Given the description of an element on the screen output the (x, y) to click on. 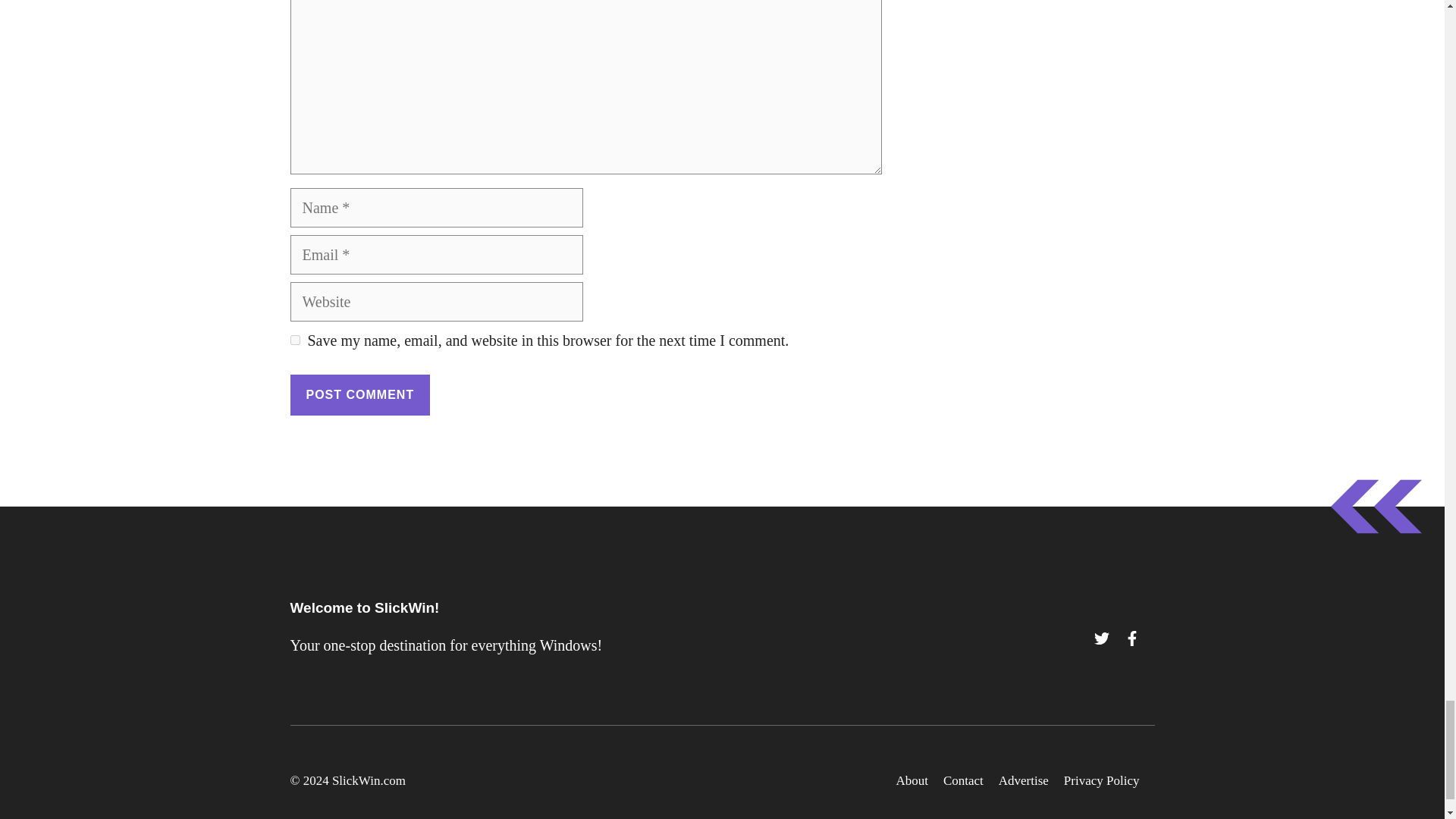
yes (294, 339)
Post Comment (359, 394)
